Given the description of an element on the screen output the (x, y) to click on. 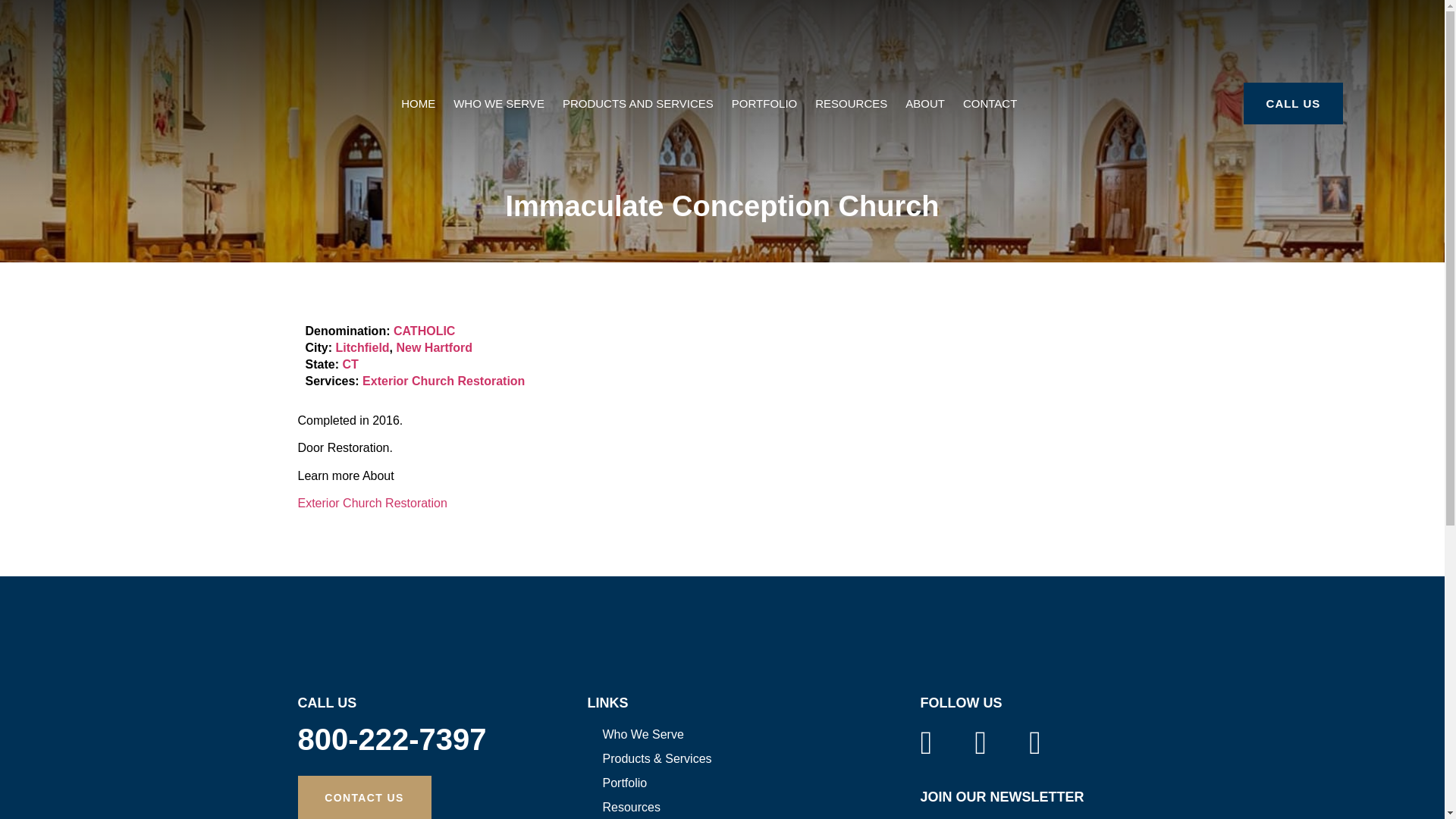
PRODUCTS AND SERVICES (637, 103)
HOME (417, 103)
PORTFOLIO (764, 103)
WHO WE SERVE (498, 103)
